Given the description of an element on the screen output the (x, y) to click on. 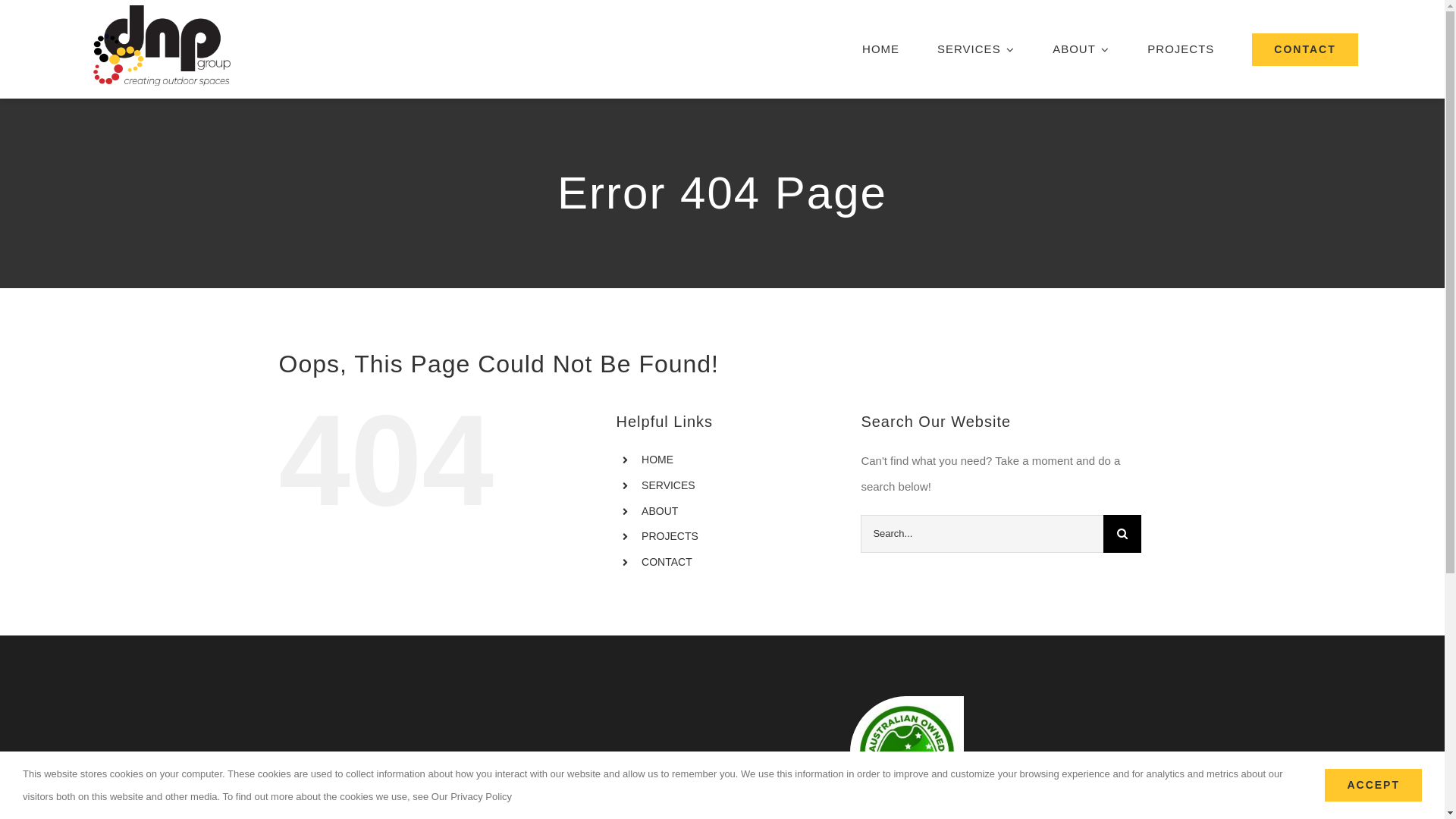
ABOUT Element type: text (659, 511)
SERVICES Element type: text (668, 485)
AO-logo-DNPG Element type: hover (906, 752)
ACCEPT Element type: text (1372, 784)
HOME Element type: text (880, 49)
CONTACT Element type: text (1304, 49)
PROJECTS Element type: text (1180, 49)
HOME Element type: text (657, 459)
CONTACT Element type: text (666, 561)
PROJECTS Element type: text (669, 536)
SERVICES Element type: text (975, 49)
ABOUT Element type: text (1080, 49)
